Given the description of an element on the screen output the (x, y) to click on. 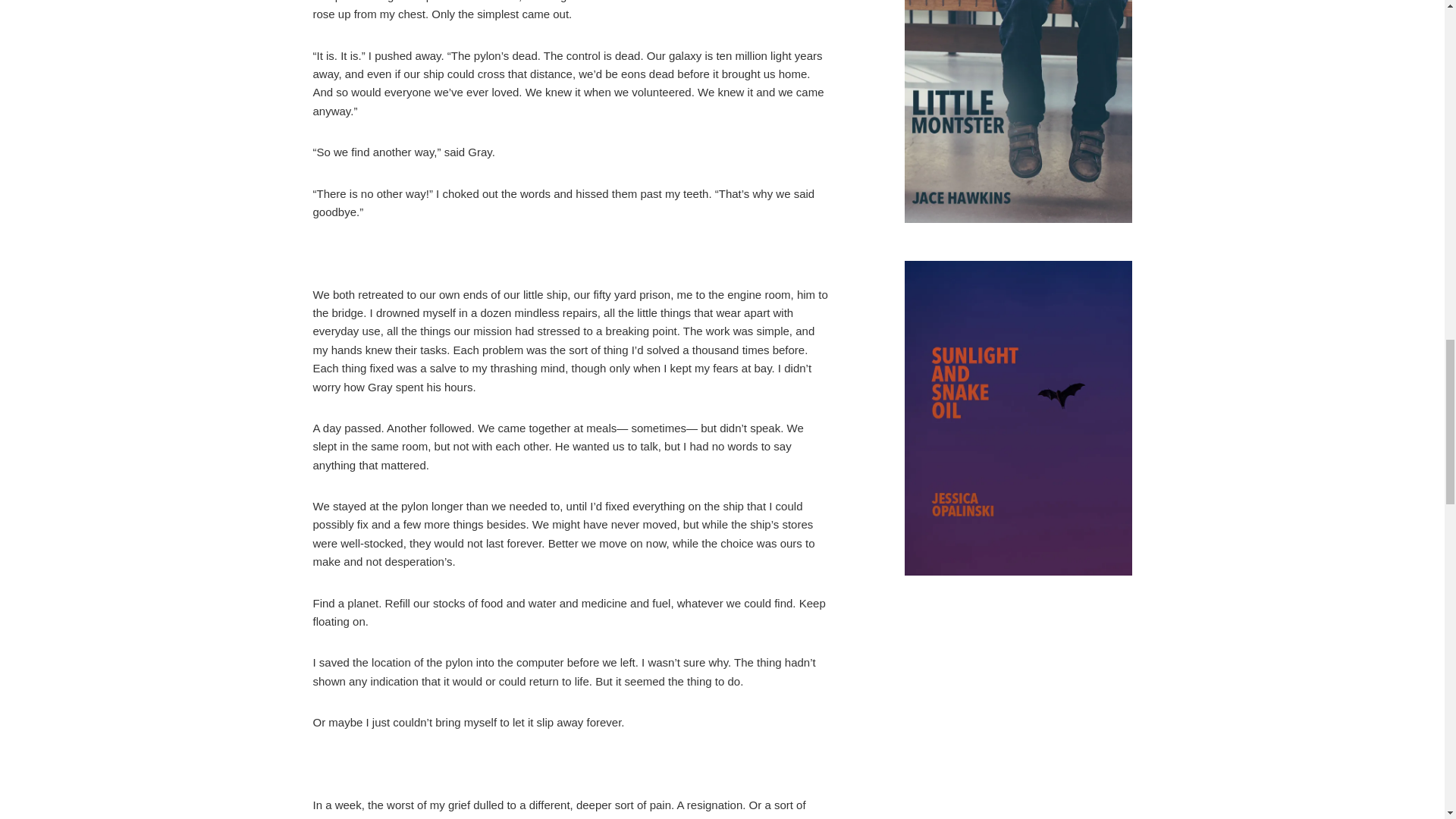
Sunlight and Snake Oil (1017, 421)
Little Montster (1017, 114)
